Given the description of an element on the screen output the (x, y) to click on. 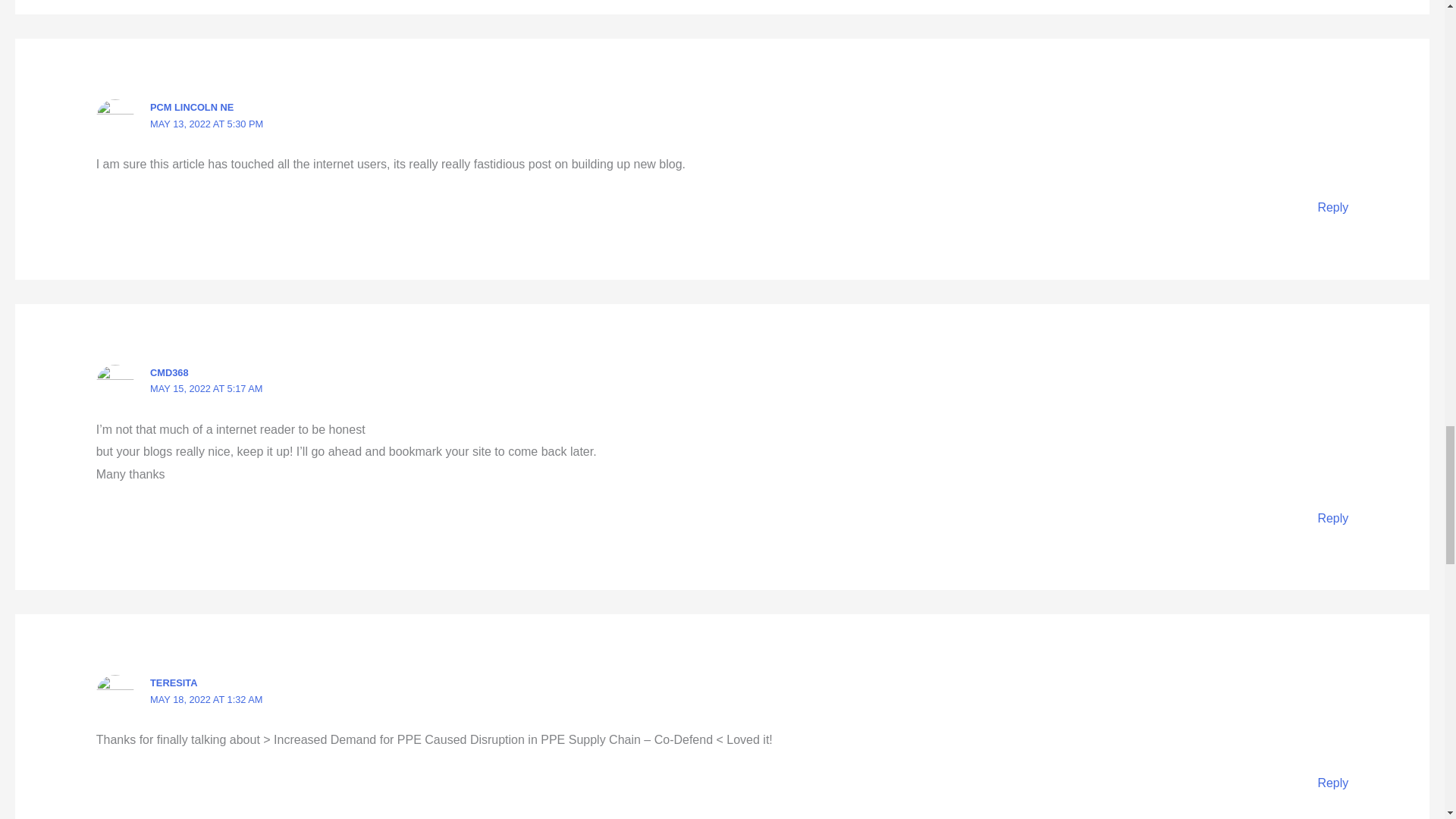
MAY 13, 2022 AT 5:30 PM (206, 123)
MAY 15, 2022 AT 5:17 AM (205, 388)
Reply (1332, 206)
MAY 18, 2022 AT 1:32 AM (205, 699)
TERESITA (172, 682)
Reply (1332, 517)
PCM LINCOLN NE (190, 107)
CMD368 (169, 372)
Reply (1332, 782)
